Given the description of an element on the screen output the (x, y) to click on. 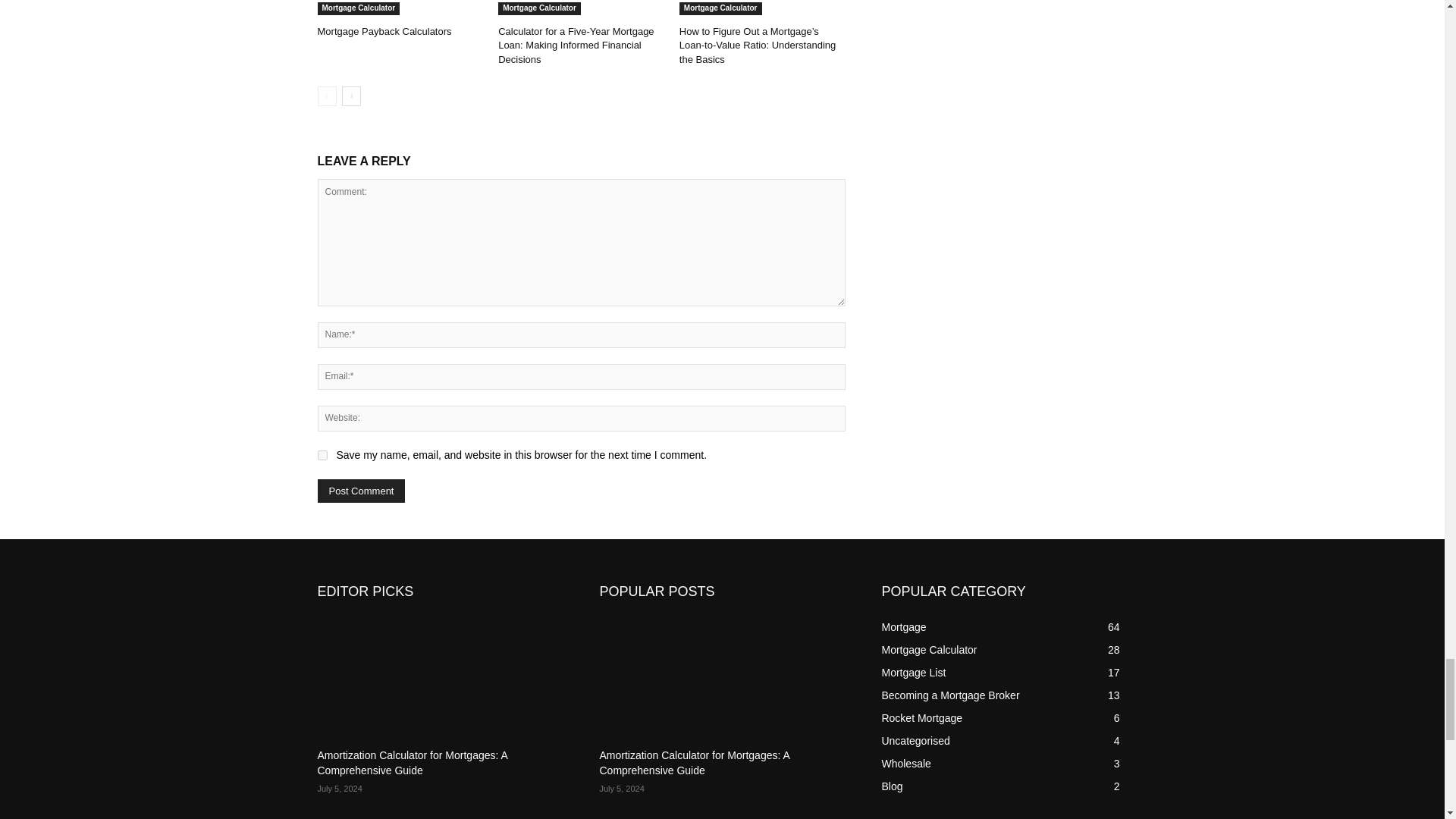
Post Comment (360, 490)
yes (321, 455)
